Given the description of an element on the screen output the (x, y) to click on. 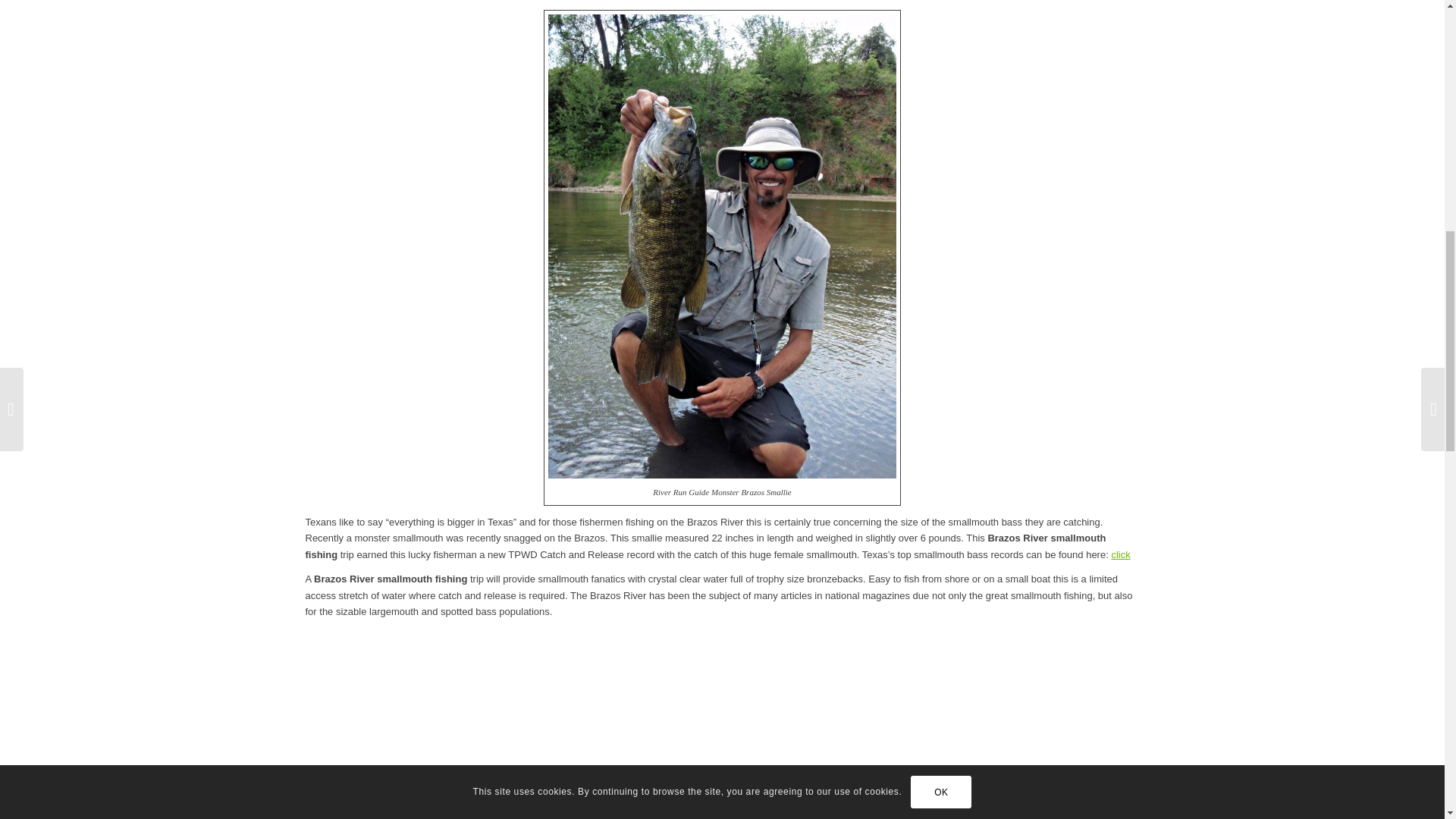
click (1119, 554)
